Given the description of an element on the screen output the (x, y) to click on. 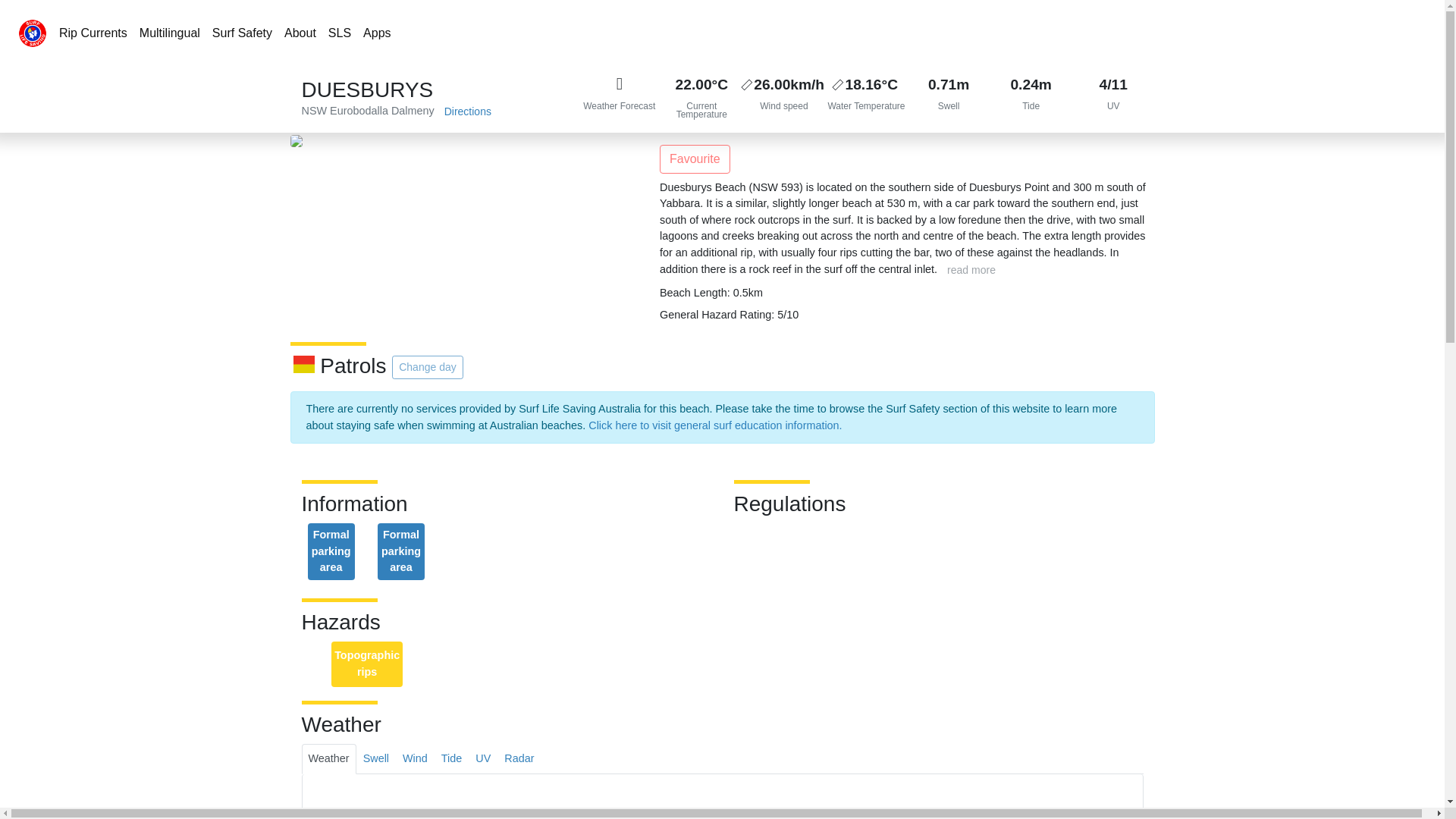
Tide (450, 758)
About (299, 33)
NSW (314, 110)
UV (1112, 96)
Apps (376, 33)
Radar (518, 758)
Multilingual (169, 33)
read more (971, 270)
Click here to visit general surf education information. (714, 425)
Directions (467, 111)
